Given the description of an element on the screen output the (x, y) to click on. 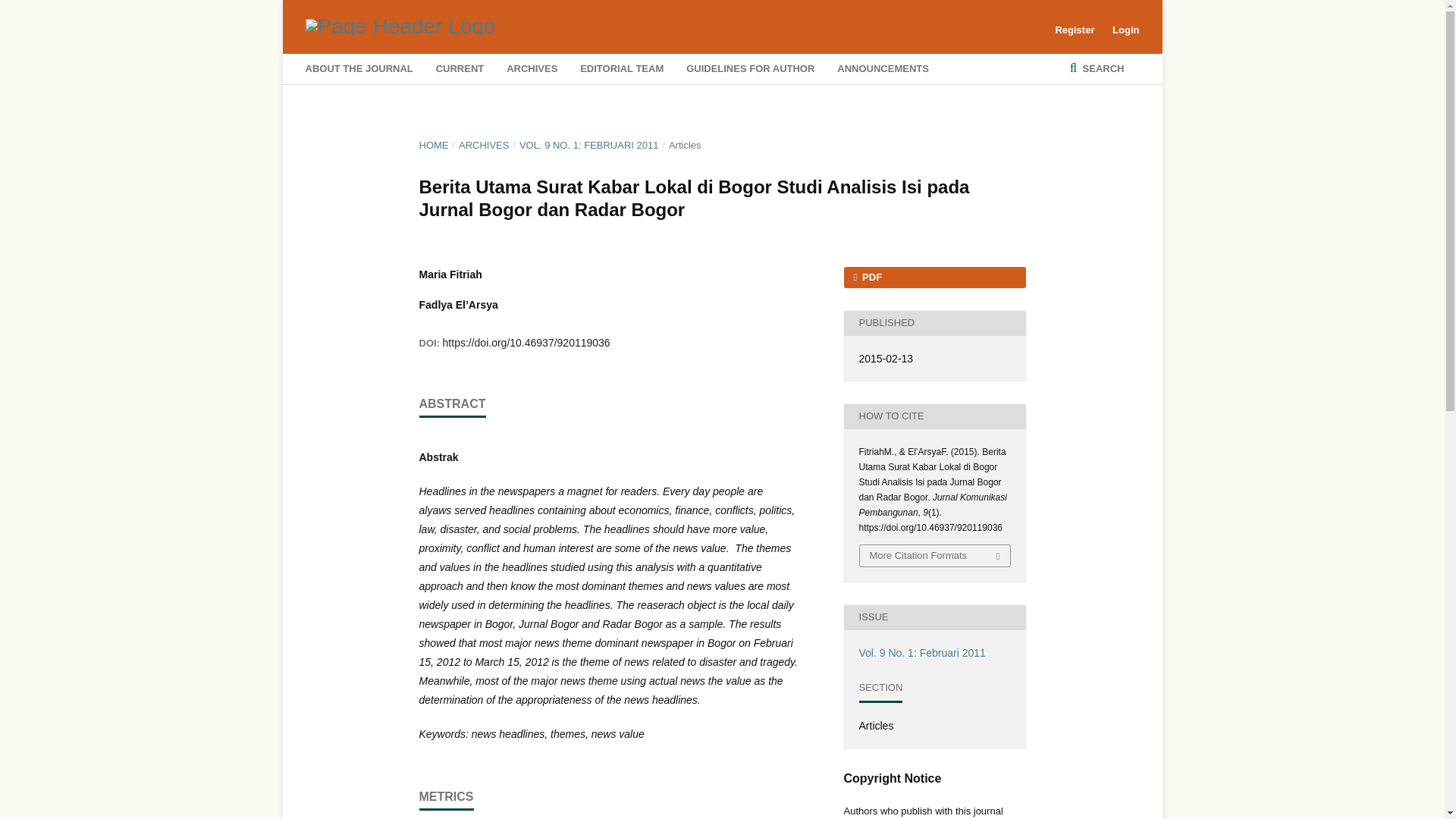
HOME (433, 145)
GUIDELINES FOR AUTHOR (749, 69)
VOL. 9 NO. 1: FEBRUARI 2011 (589, 145)
Login (1121, 29)
Vol. 9 No. 1: Februari 2011 (922, 653)
ANNOUNCEMENTS (882, 69)
CURRENT (459, 69)
PDF (934, 277)
ABOUT THE JOURNAL (358, 69)
Register (1074, 29)
More Citation Formats (935, 555)
ARCHIVES (531, 69)
ARCHIVES (483, 145)
SEARCH (1096, 69)
EDITORIAL TEAM (621, 69)
